Given the description of an element on the screen output the (x, y) to click on. 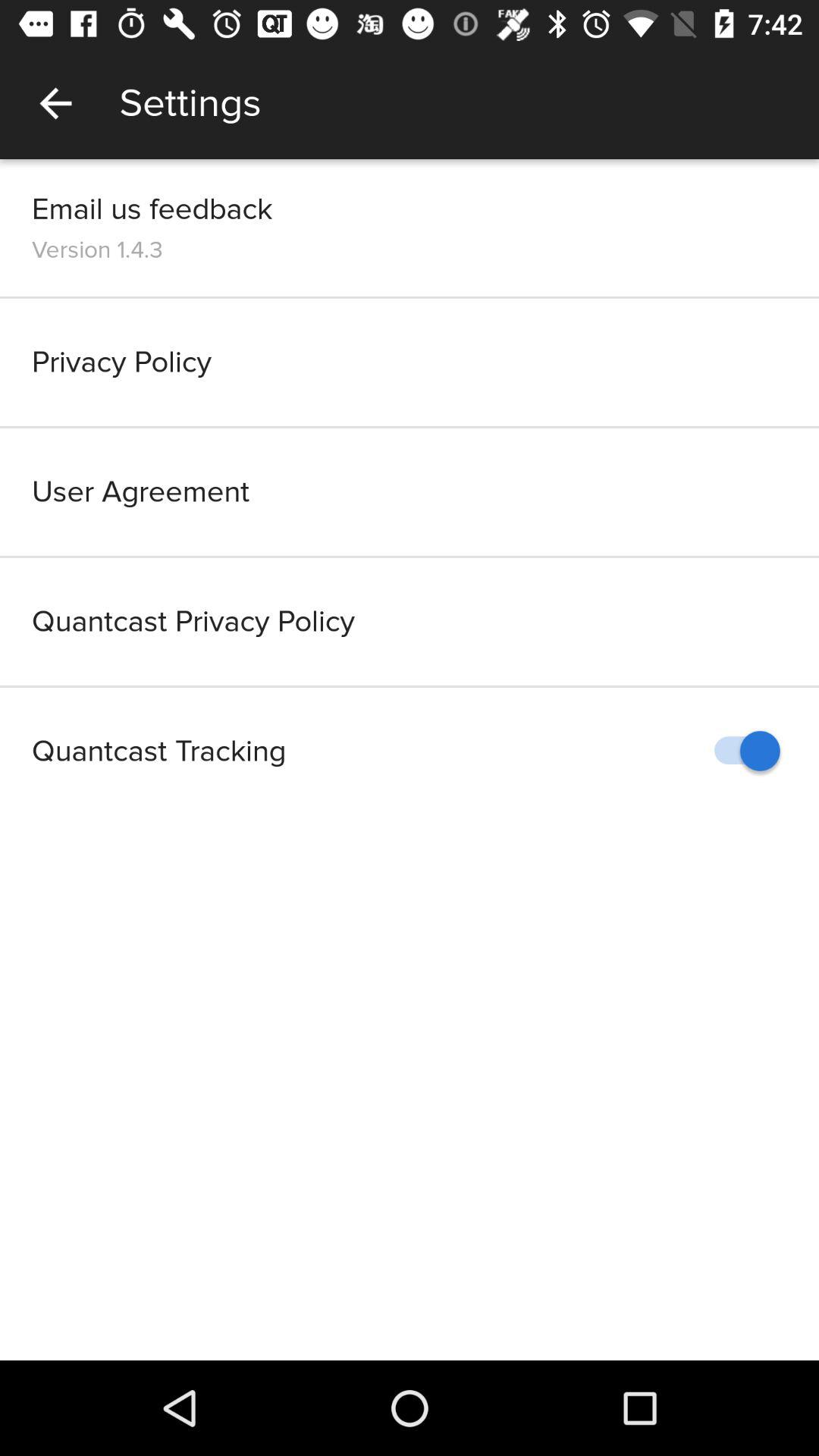
tap item above the version 1 4 (151, 209)
